Given the description of an element on the screen output the (x, y) to click on. 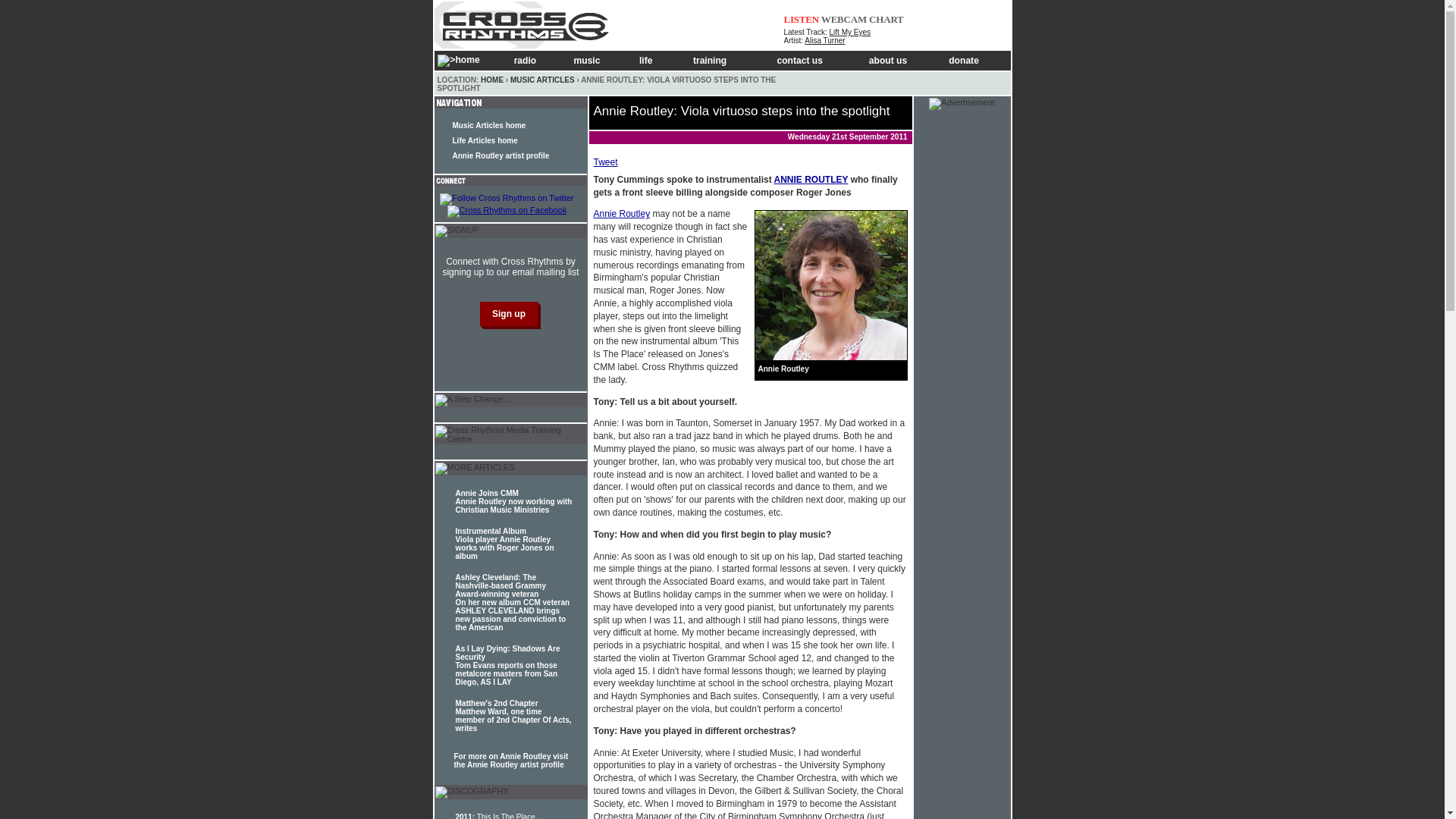
radio (533, 60)
contact us (812, 60)
LISTEN (801, 19)
WEBCAM (843, 19)
CHART (886, 19)
life (655, 60)
Alisa Turner (824, 40)
about us (899, 60)
home (468, 60)
training (725, 60)
